Given the description of an element on the screen output the (x, y) to click on. 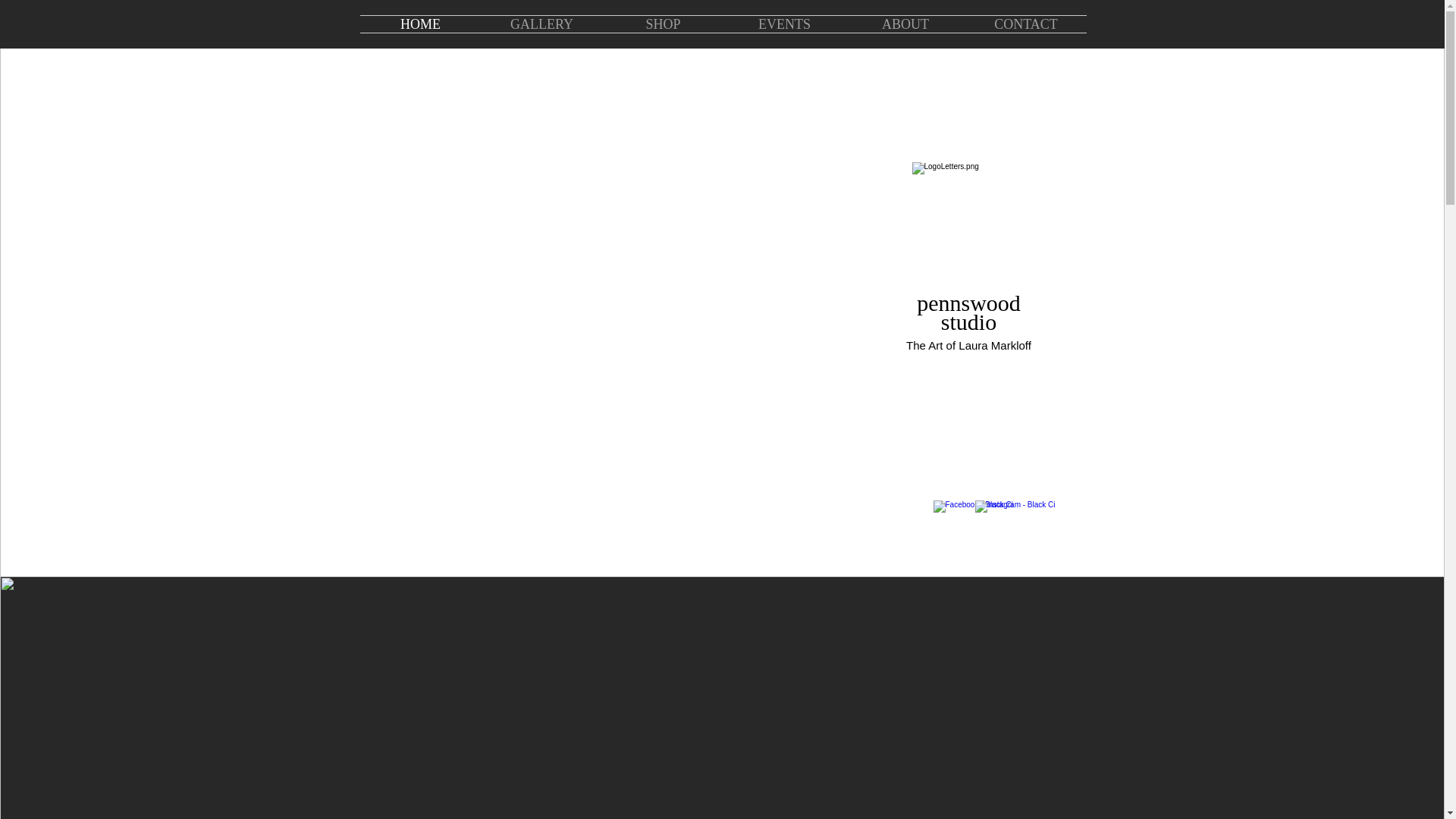
SHOP (662, 23)
CONTACT (1026, 23)
pennswood (968, 302)
GALLERY (541, 23)
ABOUT (904, 23)
HOME (419, 23)
EVENTS (783, 23)
studio (967, 321)
